Given the description of an element on the screen output the (x, y) to click on. 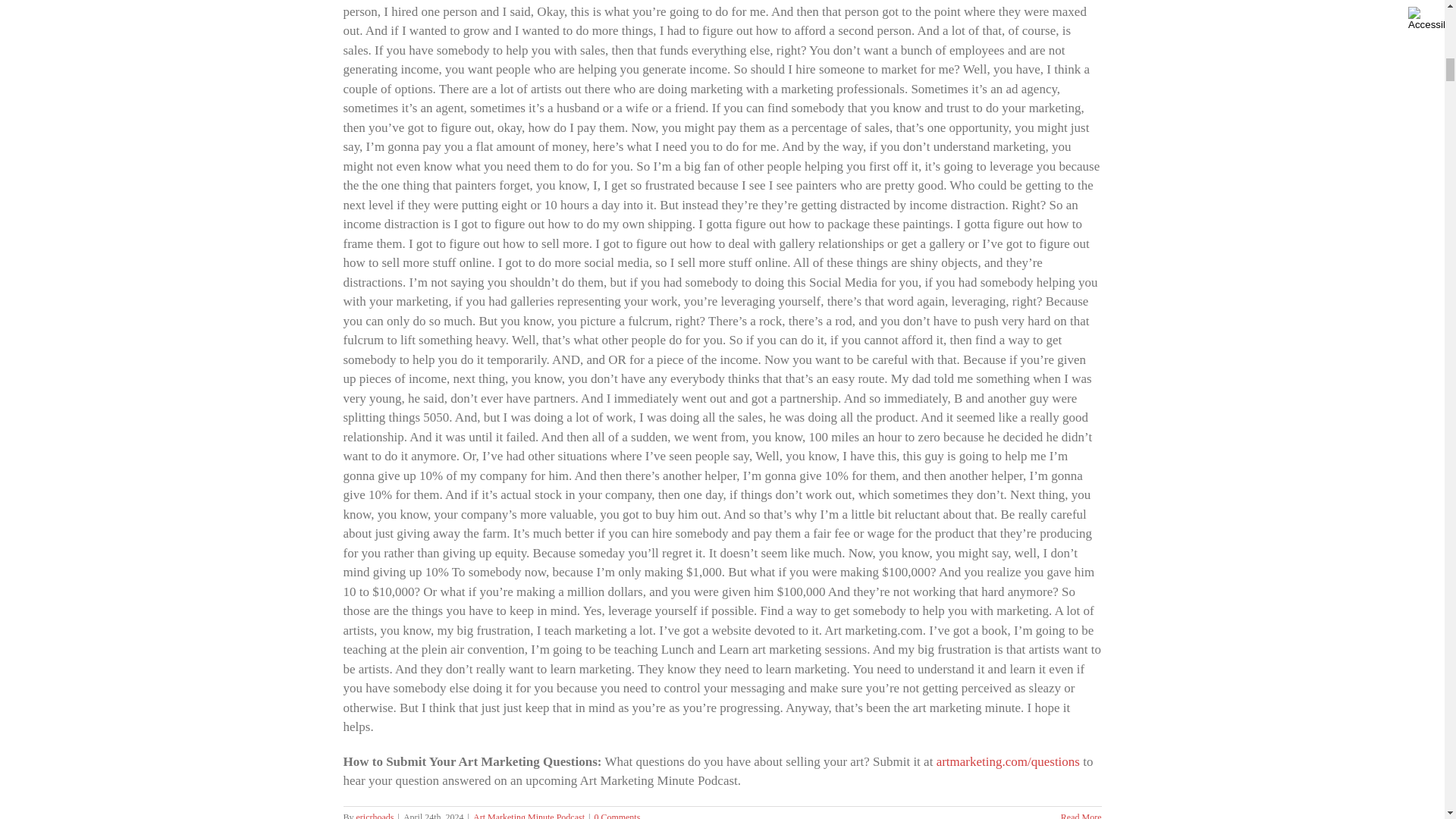
0 Comments (617, 815)
Art Marketing Minute Podcast (529, 815)
ericrhoads (375, 815)
Posts by ericrhoads (375, 815)
Read More (1081, 815)
